Given the description of an element on the screen output the (x, y) to click on. 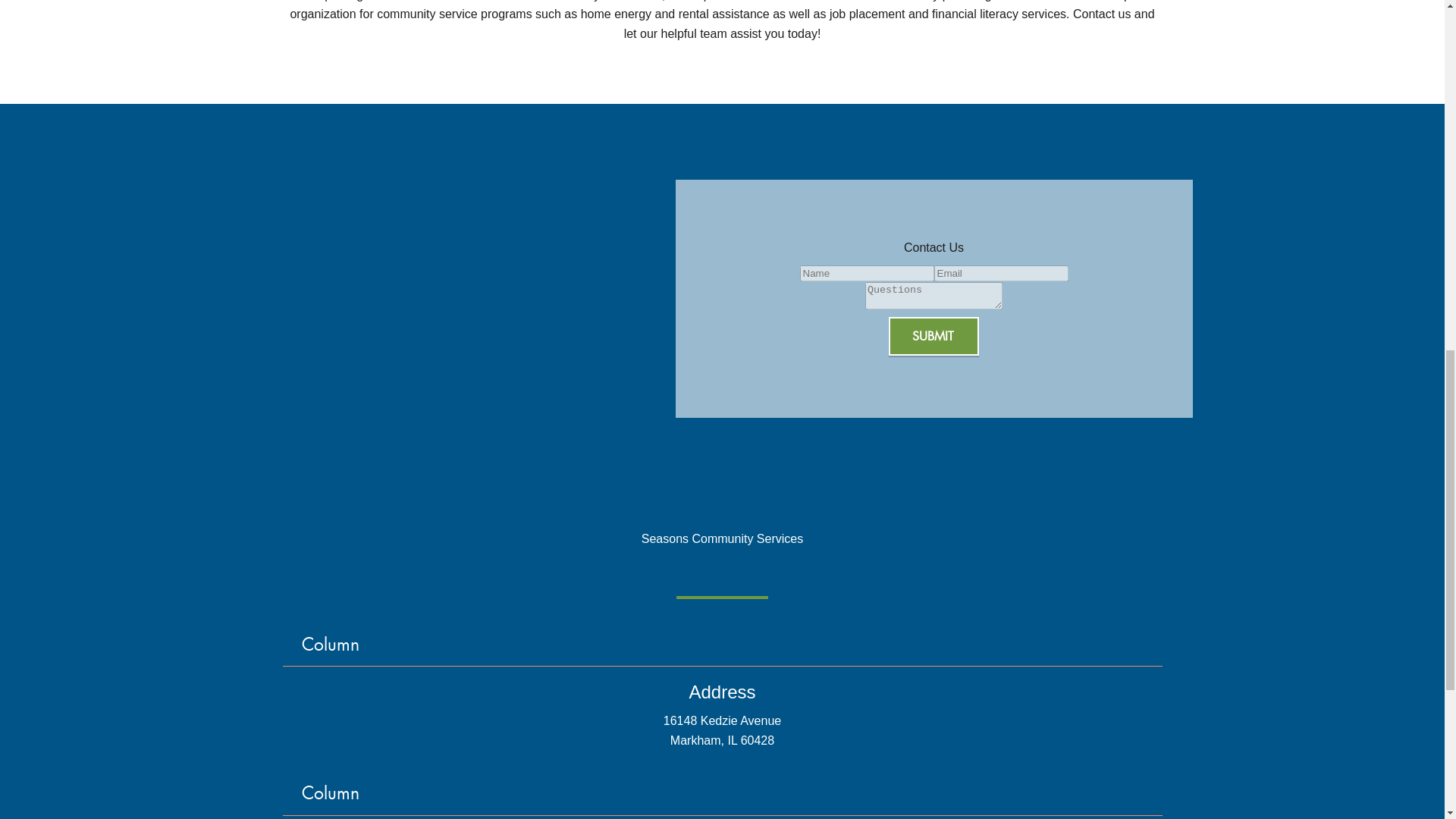
Column (724, 640)
Column (724, 789)
SUBMIT (932, 336)
